Given the description of an element on the screen output the (x, y) to click on. 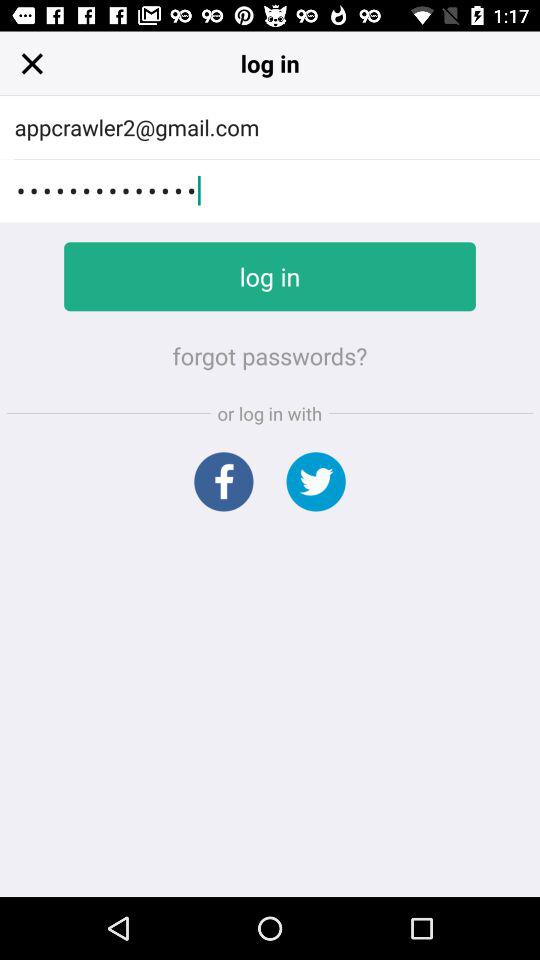
login with facebook (223, 481)
